Given the description of an element on the screen output the (x, y) to click on. 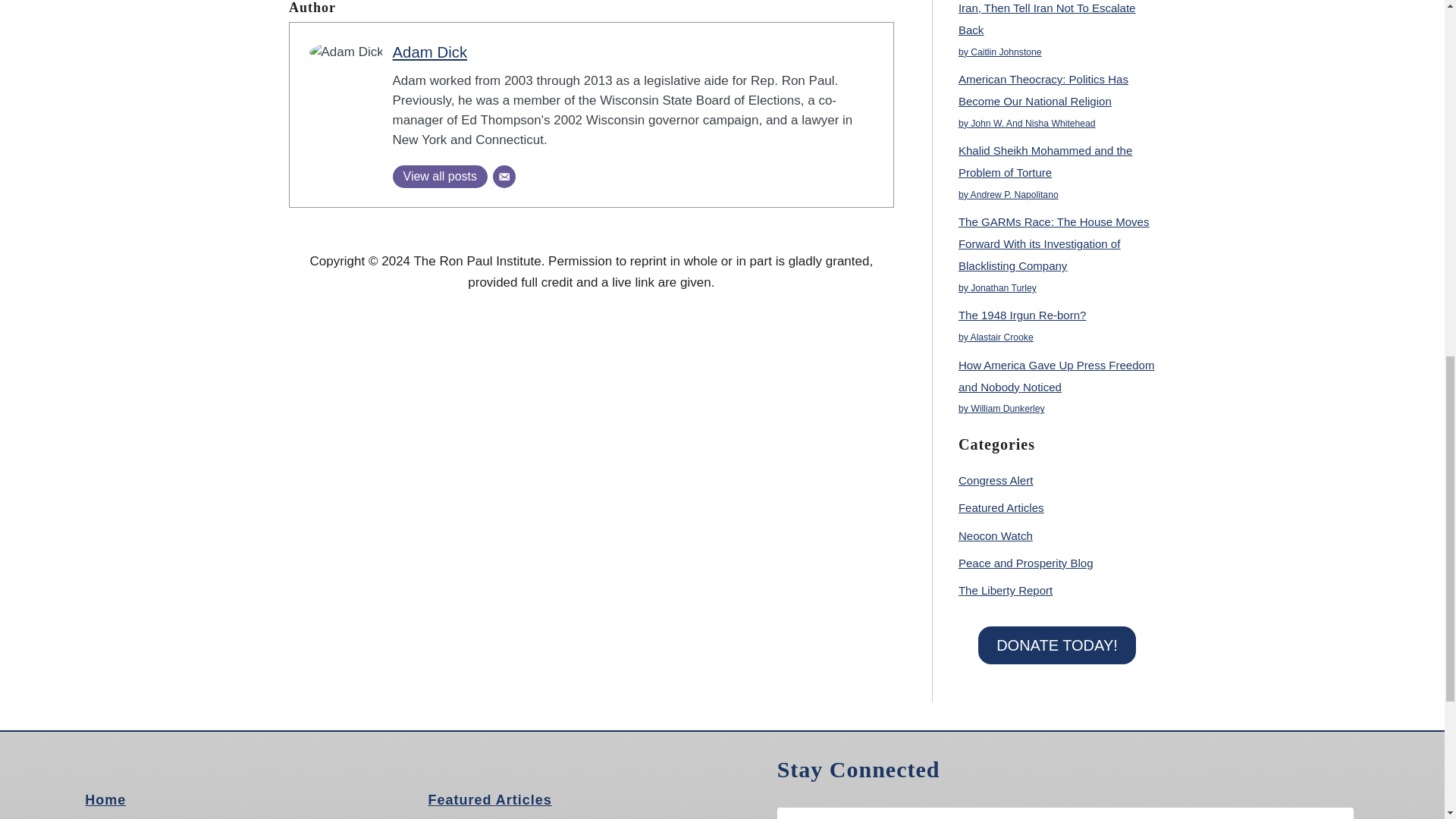
Adam Dick (430, 52)
View all posts (440, 176)
Adam Dick (430, 52)
View all posts (440, 176)
